Given the description of an element on the screen output the (x, y) to click on. 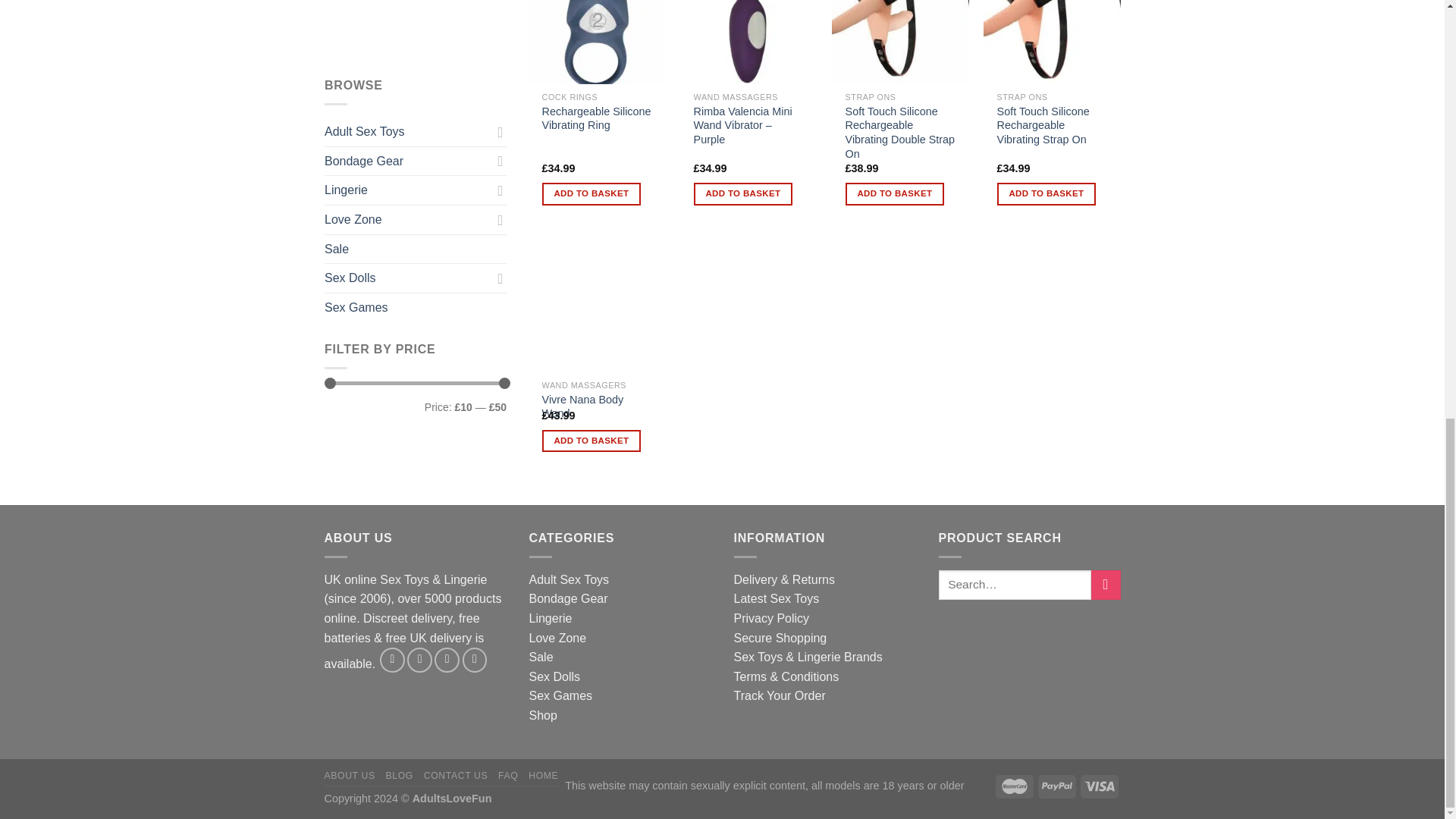
Follow on Twitter (419, 659)
Subscribe to RSS (475, 659)
Send us an email (446, 659)
Follow on Facebook (392, 659)
